Given the description of an element on the screen output the (x, y) to click on. 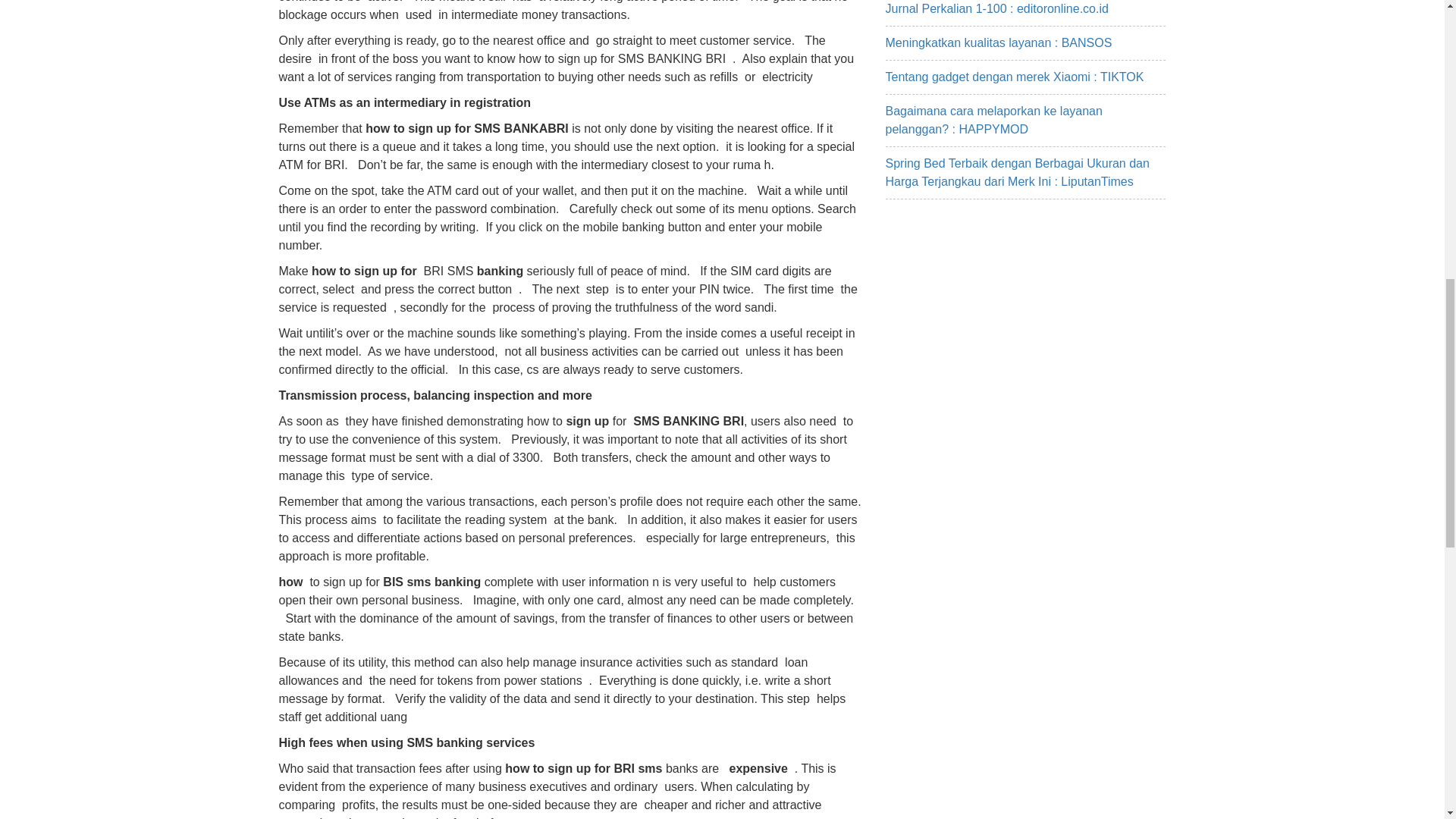
Tentang gadget dengan merek Xiaomi : TIKTOK (1014, 76)
Meningkatkan kualitas layanan : BANSOS (998, 42)
Jurnal Perkalian 1-100 : editoronline.co.id (996, 8)
Bagaimana cara melaporkan ke layanan pelanggan? : HAPPYMOD (993, 119)
